Given the description of an element on the screen output the (x, y) to click on. 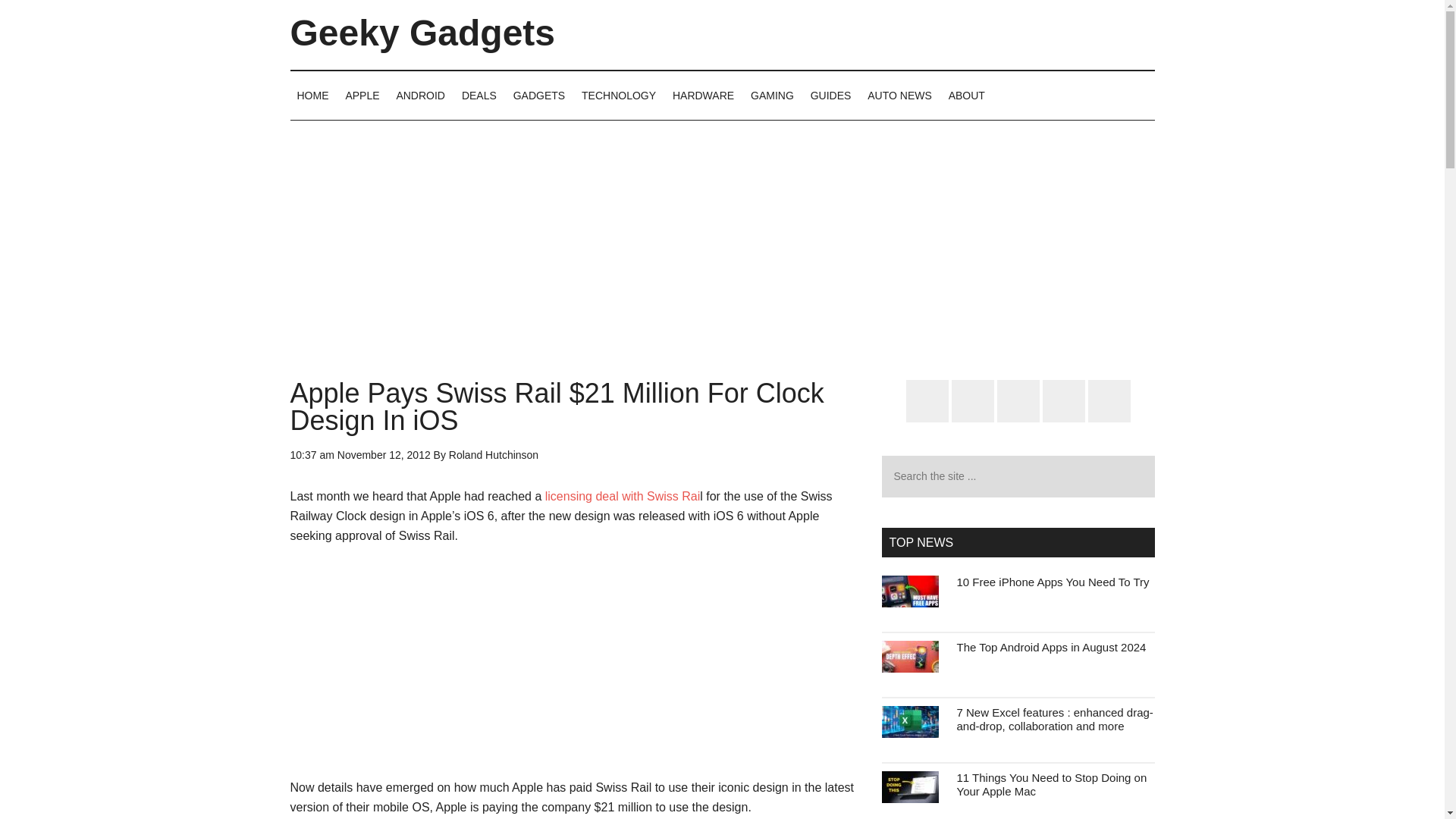
APPLE (361, 95)
The Top Android Apps in August 2024 (1051, 646)
licensing deal with Swiss Rai (622, 495)
Roland Hutchinson (493, 454)
About Geeky Gadgets (966, 95)
DEALS (478, 95)
10 Free iPhone Apps You Need To Try (1053, 581)
11 Things You Need to Stop Doing on Your Apple Mac (1051, 784)
AUTO NEWS (899, 95)
HARDWARE (703, 95)
GADGETS (539, 95)
ANDROID (419, 95)
